Given the description of an element on the screen output the (x, y) to click on. 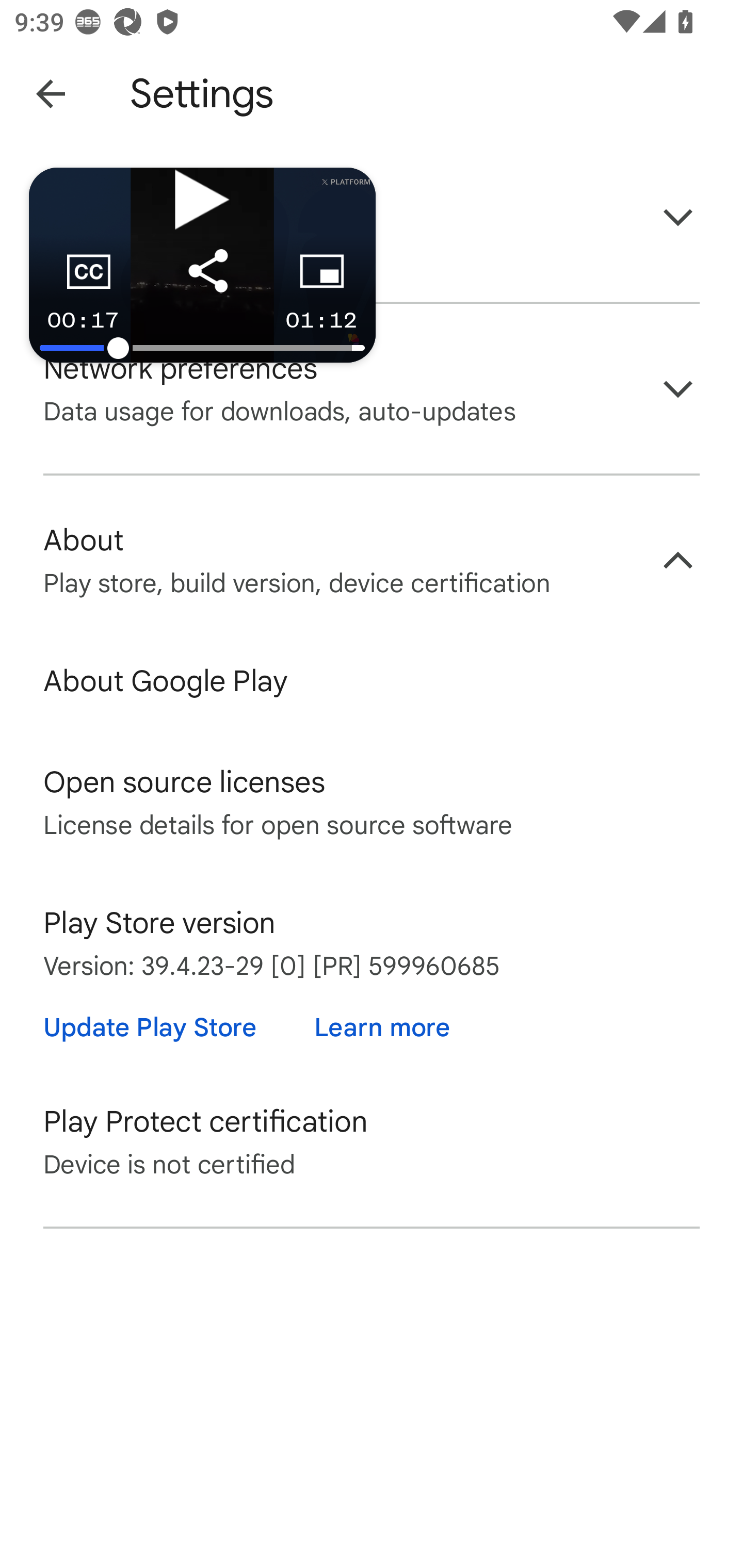
Navigate up (50, 93)
About Google Play (371, 681)
Update Play Store (149, 1027)
Learn more (382, 1027)
Play Protect certification Device is not certified (371, 1141)
